Given the description of an element on the screen output the (x, y) to click on. 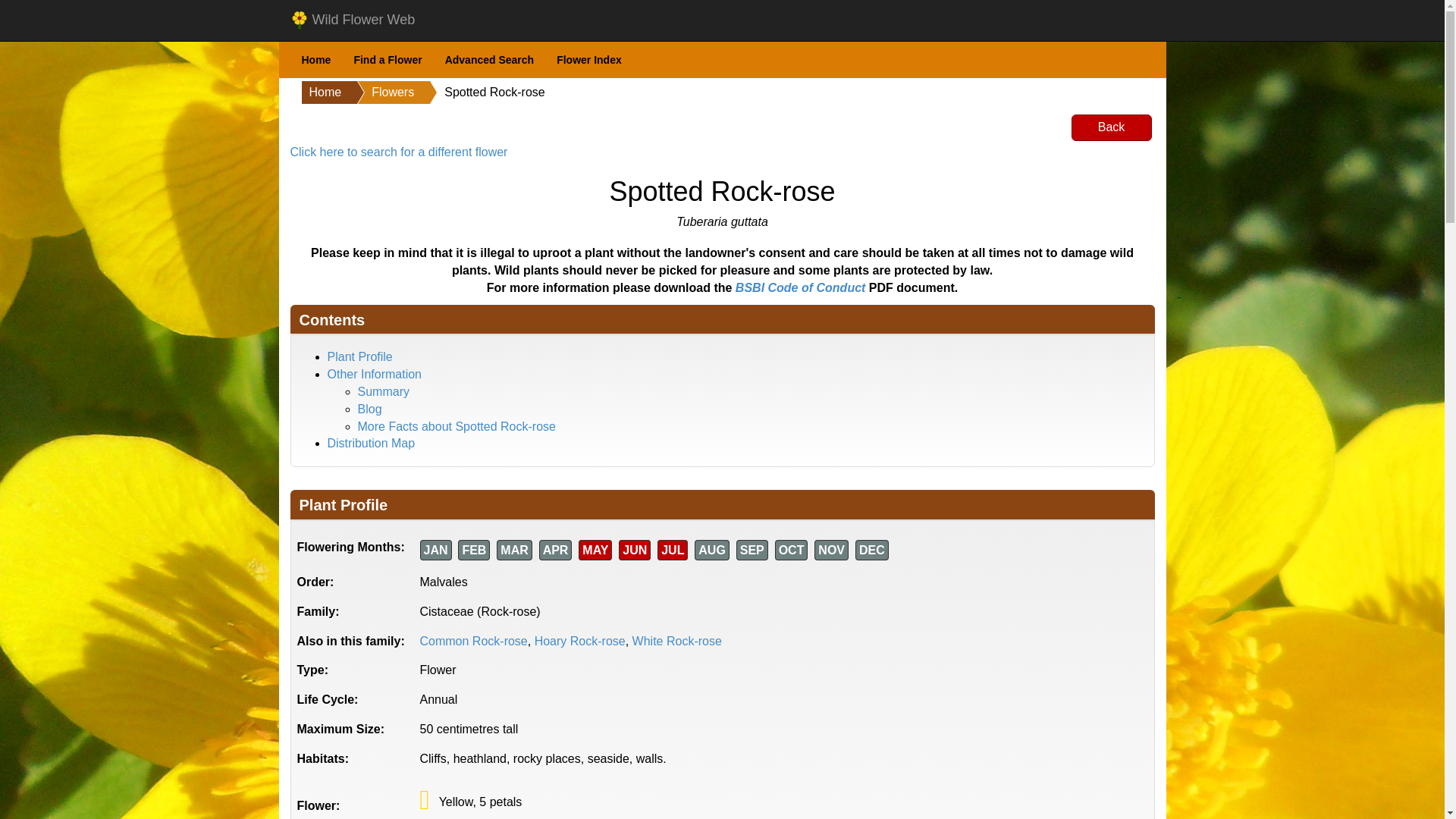
BSBI Code of Conduct (800, 287)
Flowers (376, 92)
Home (321, 92)
Spotted Rock-rose (478, 92)
Blog (369, 408)
White Rock-rose (676, 640)
Flower Index (588, 60)
Home (315, 60)
Other Information (374, 373)
Find a Flower (387, 60)
Summary (383, 391)
Back (1112, 127)
Wild Flower Web (352, 20)
Common Rock-rose (473, 640)
Hoary Rock-rose (580, 640)
